Given the description of an element on the screen output the (x, y) to click on. 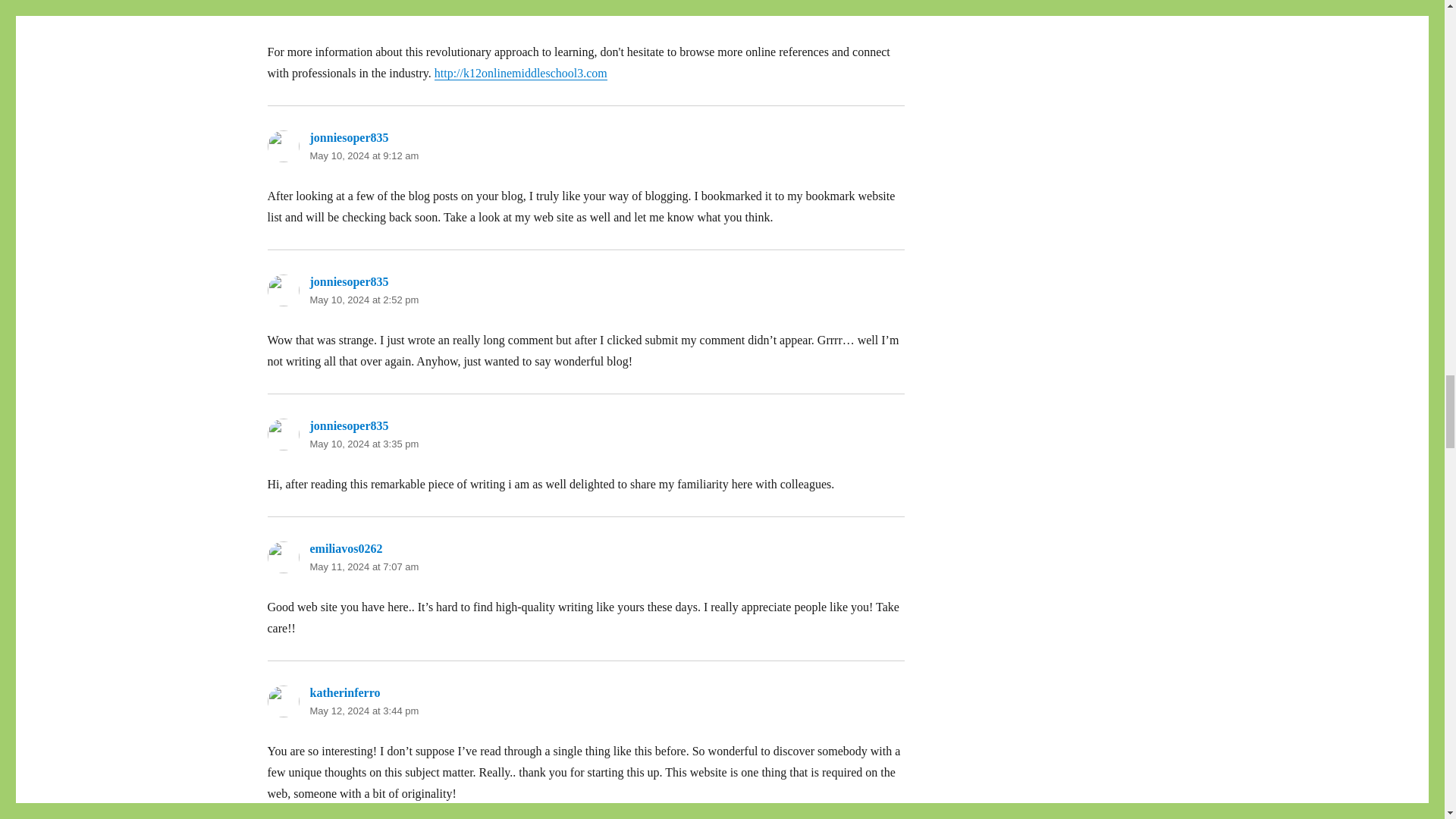
katherinferro (344, 692)
jonniesoper835 (348, 281)
May 11, 2024 at 7:07 am (363, 566)
May 10, 2024 at 3:35 pm (363, 443)
May 10, 2024 at 2:52 pm (363, 299)
jonniesoper835 (348, 425)
May 10, 2024 at 9:12 am (363, 155)
emiliavos0262 (344, 548)
jonniesoper835 (348, 137)
May 12, 2024 at 3:44 pm (363, 710)
